Given the description of an element on the screen output the (x, y) to click on. 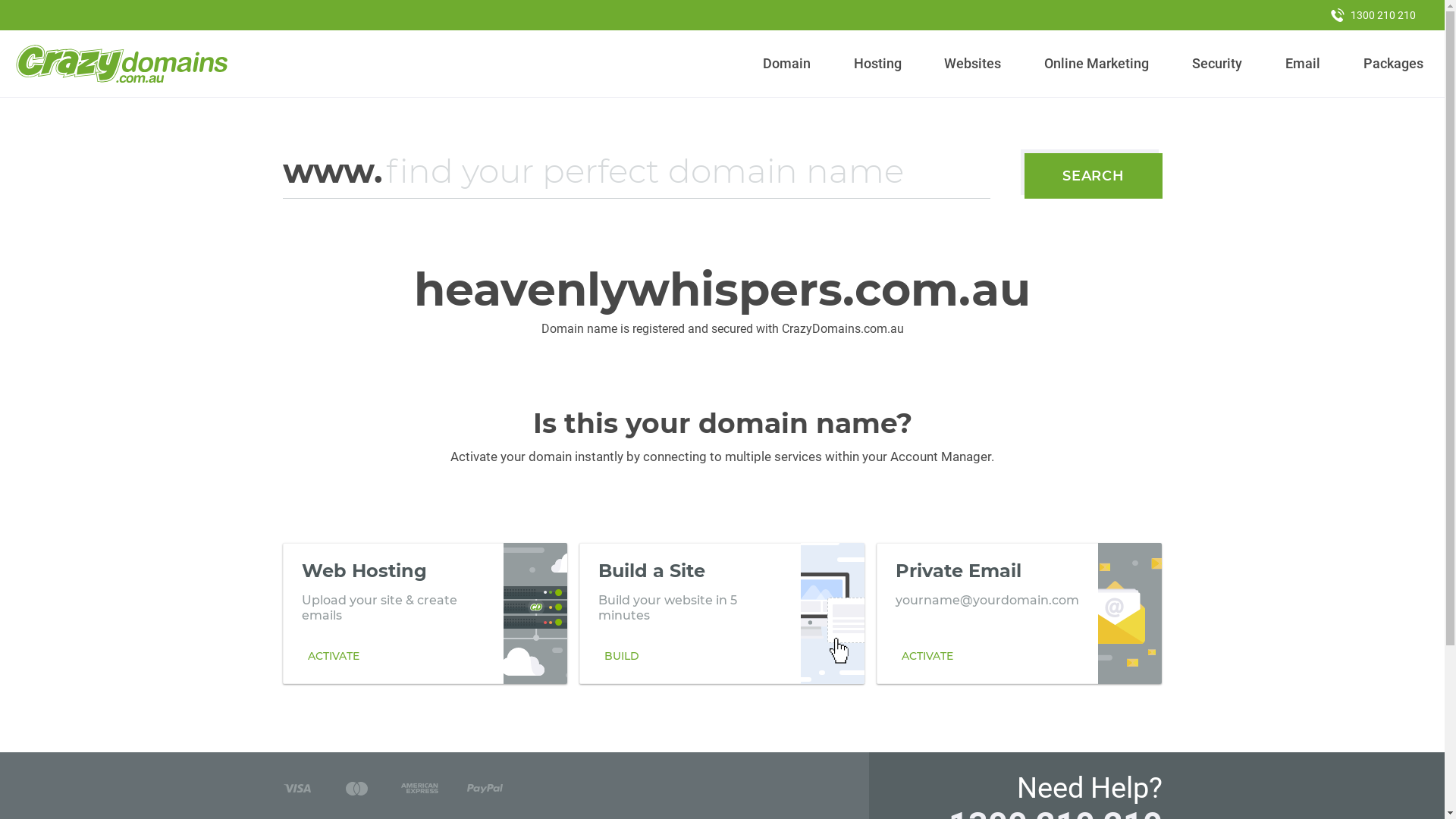
Build a Site
Build your website in 5 minutes
BUILD Element type: text (721, 613)
Domain Element type: text (786, 63)
Online Marketing Element type: text (1096, 63)
Hosting Element type: text (877, 63)
Email Element type: text (1302, 63)
Private Email
yourname@yourdomain.com
ACTIVATE Element type: text (1018, 613)
1300 210 210 Element type: text (1373, 15)
Websites Element type: text (972, 63)
SEARCH Element type: text (1092, 175)
Web Hosting
Upload your site & create emails
ACTIVATE Element type: text (424, 613)
Security Element type: text (1217, 63)
Packages Element type: text (1392, 63)
